Given the description of an element on the screen output the (x, y) to click on. 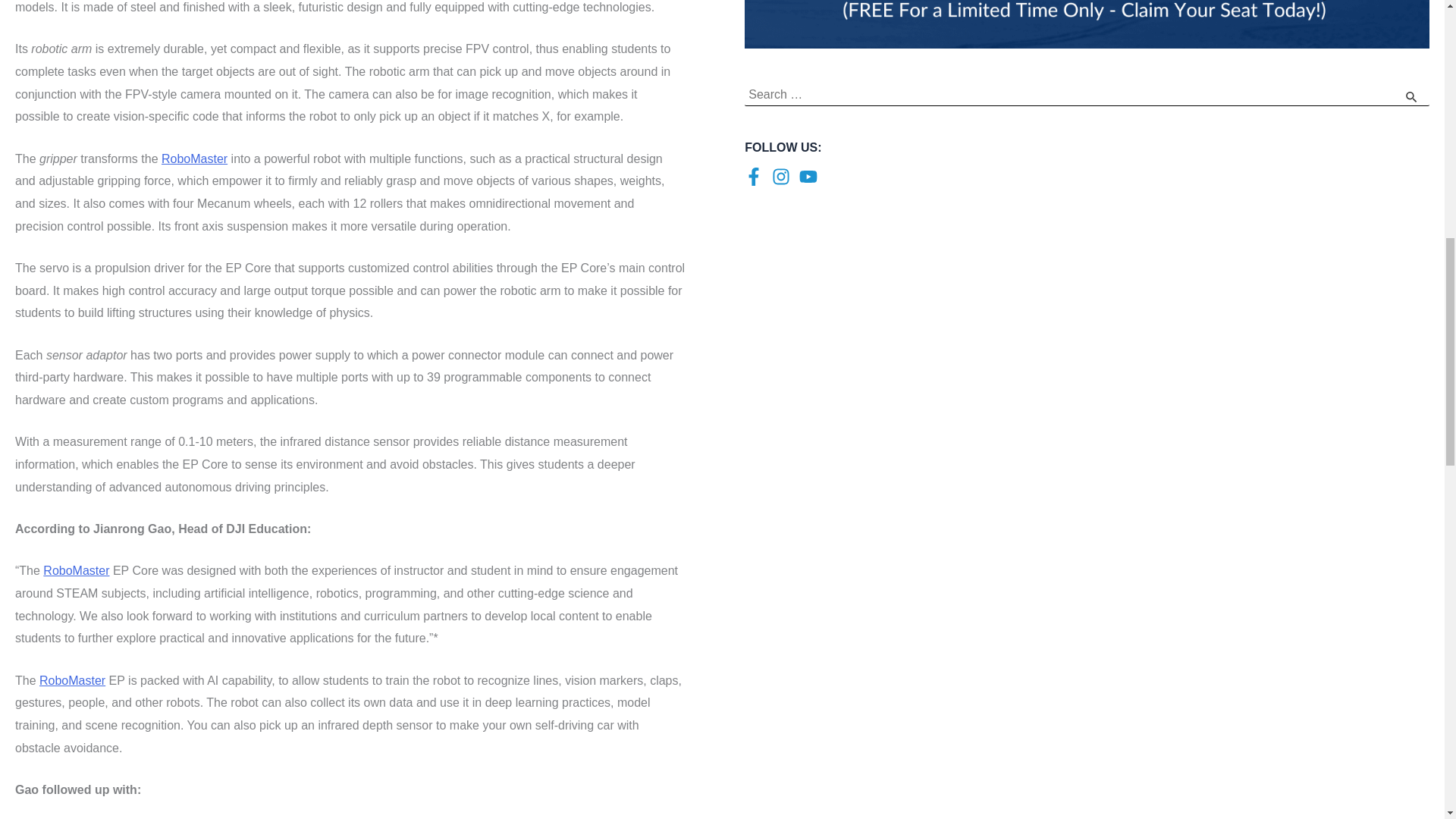
RoboMaster (71, 680)
RoboMaster (194, 158)
RoboMaster (76, 570)
